Given the description of an element on the screen output the (x, y) to click on. 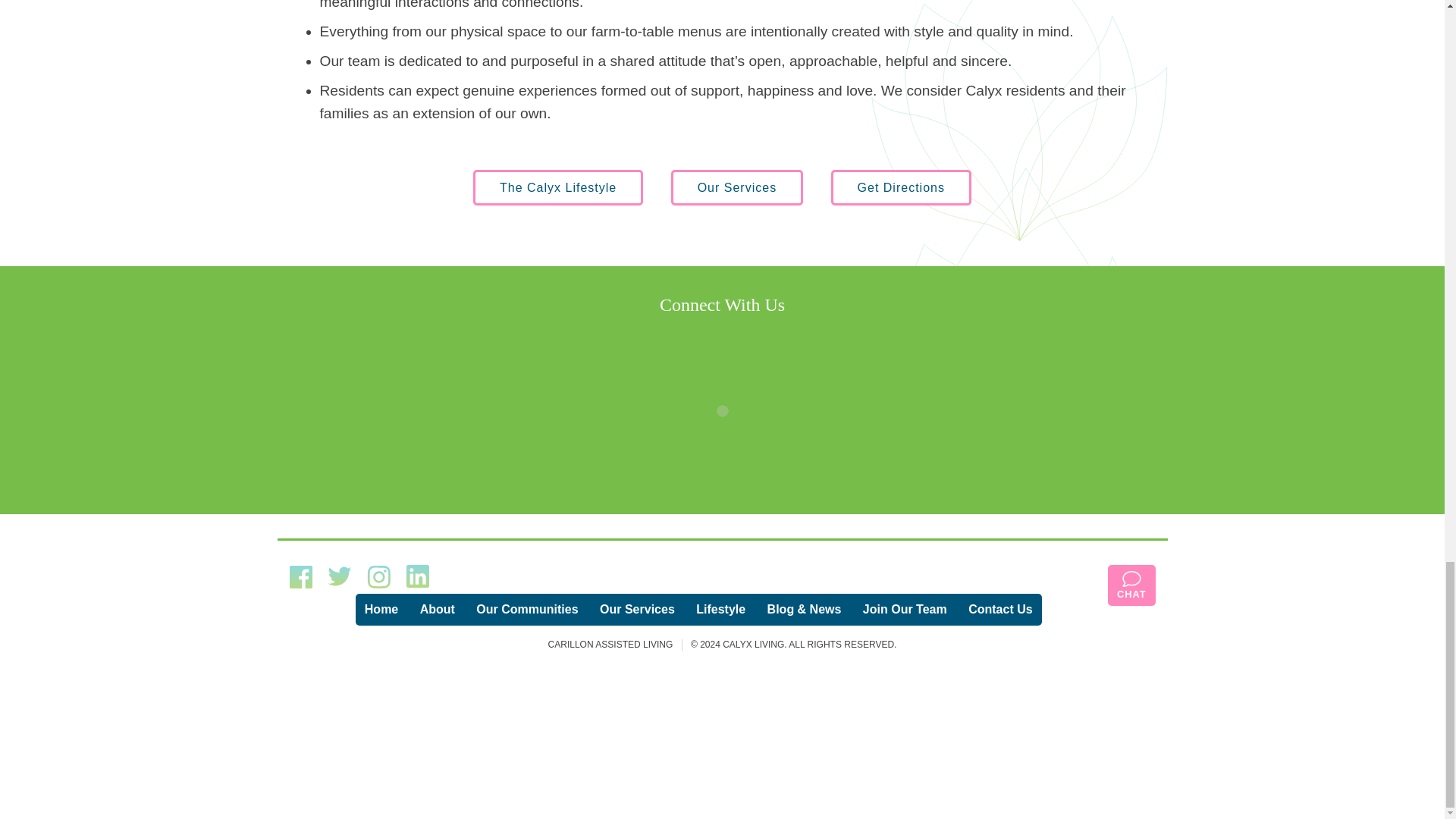
Our Communities (526, 609)
About (437, 609)
CHAT (1132, 585)
Home (381, 609)
Get Directions (901, 187)
The Calyx Lifestyle (558, 187)
Our Services (737, 187)
